Given the description of an element on the screen output the (x, y) to click on. 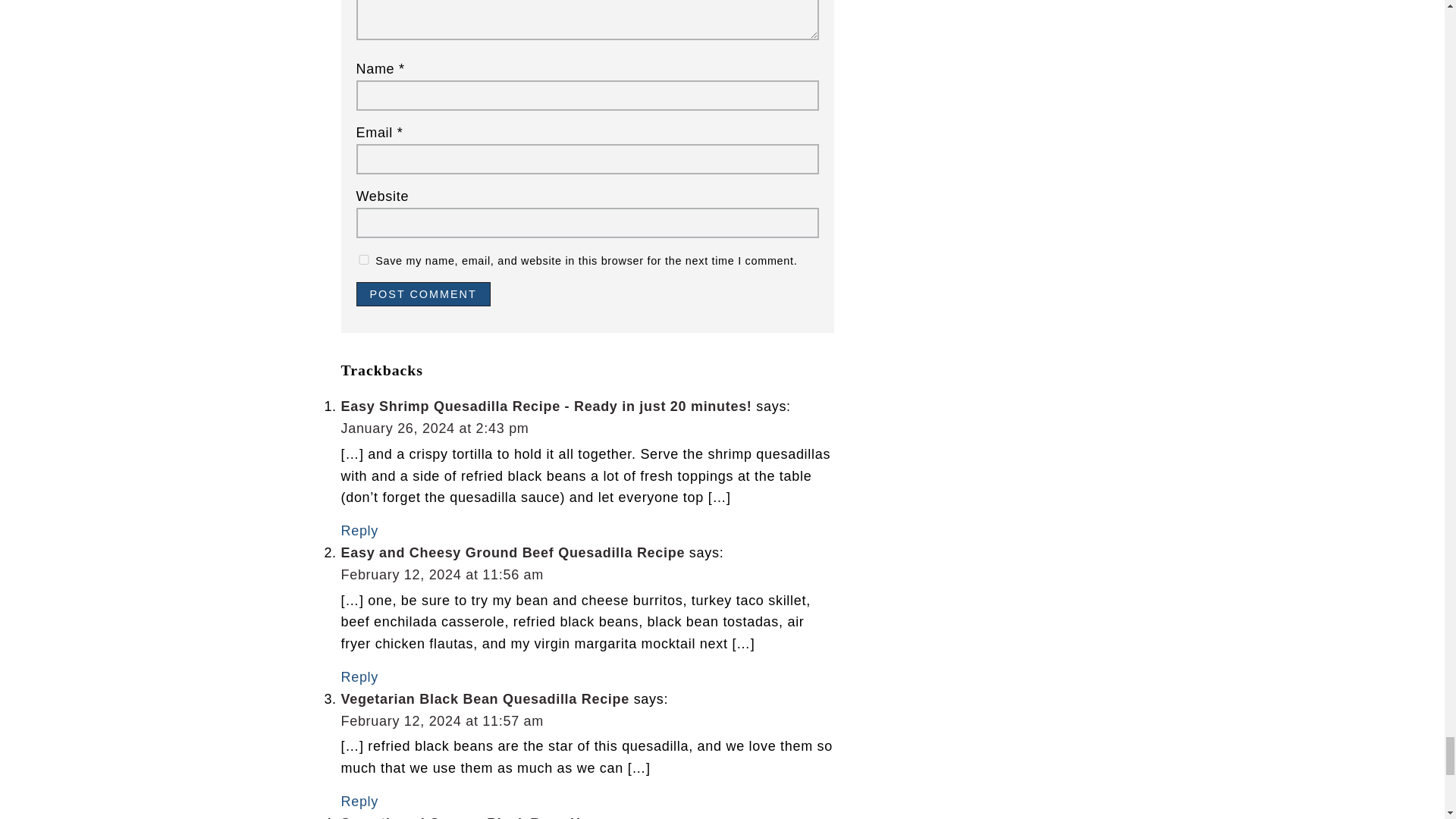
Post Comment (423, 293)
yes (363, 259)
